Given the description of an element on the screen output the (x, y) to click on. 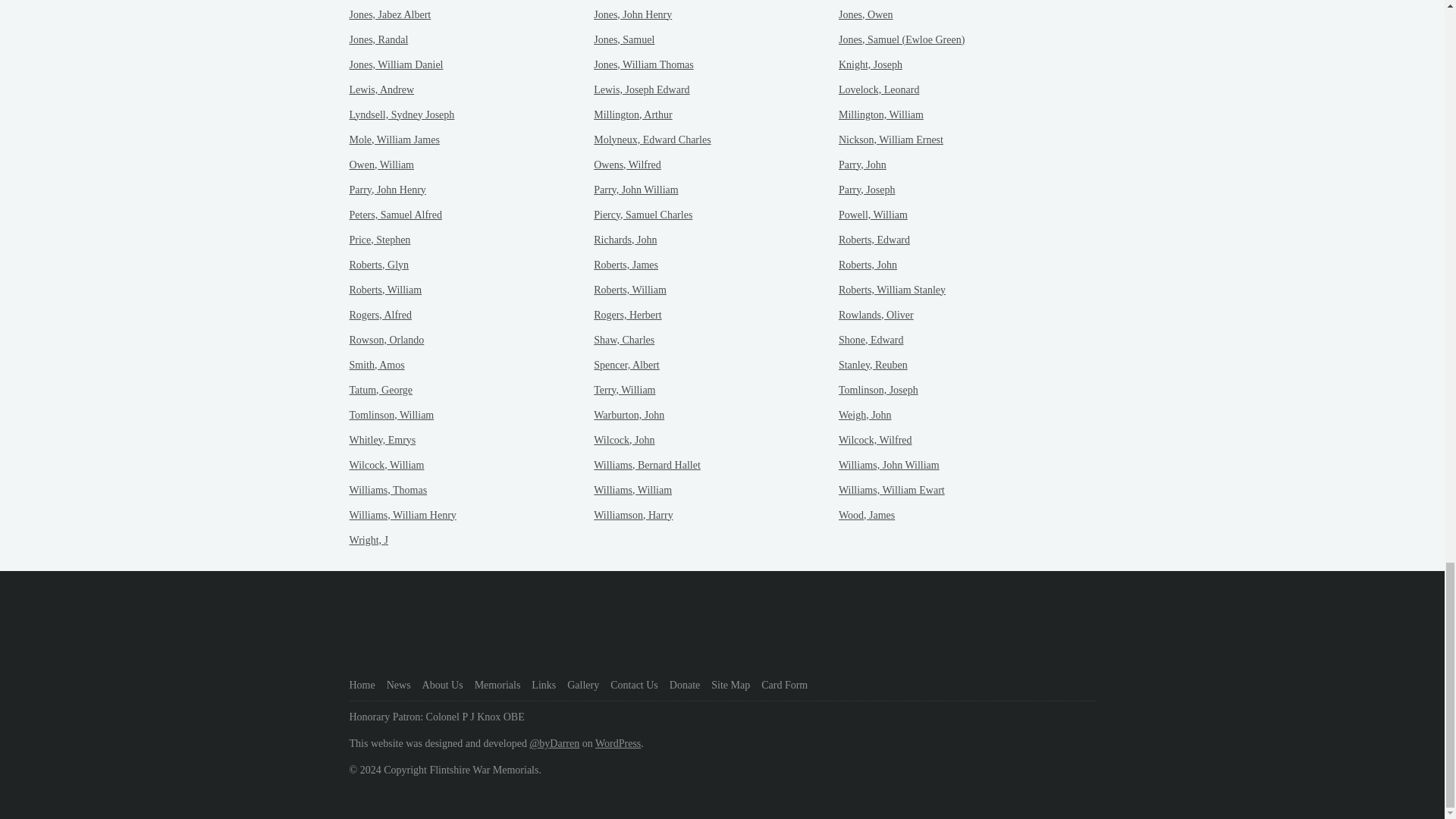
WordPress (617, 743)
